Given the description of an element on the screen output the (x, y) to click on. 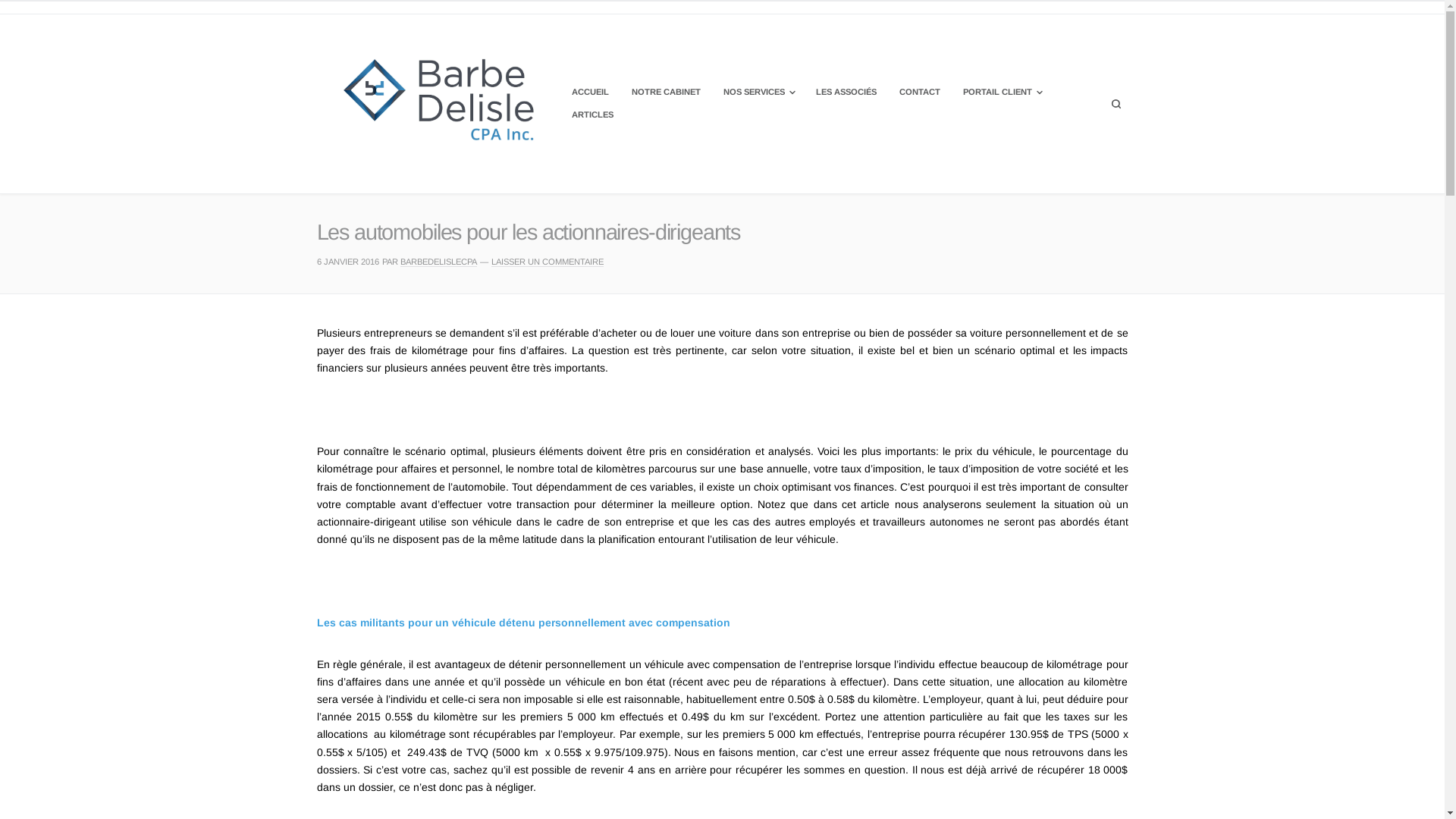
ARTICLES Element type: text (592, 114)
ACCUEIL Element type: text (590, 92)
CONTACT Element type: text (919, 92)
BARBEDELISLECPA Element type: text (438, 261)
NOTRE CABINET Element type: text (665, 92)
OUVRIR UNE ZONE DE RECHERCHE Element type: text (1115, 103)
PORTAIL CLIENT Element type: text (1001, 92)
NOS SERVICES Element type: text (758, 92)
LAISSER UN COMMENTAIRE Element type: text (547, 261)
